Given the description of an element on the screen output the (x, y) to click on. 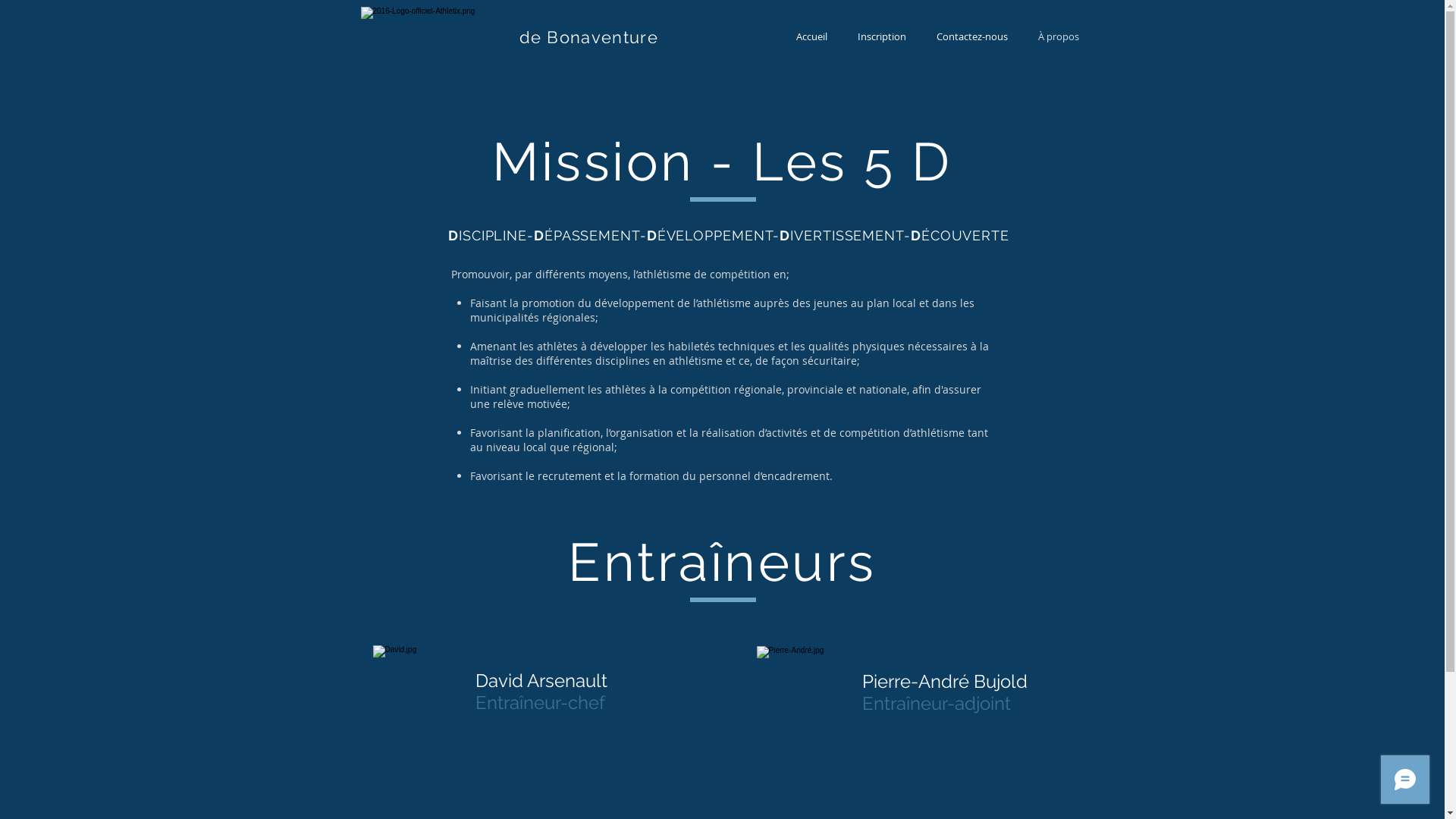
Accueil Element type: text (811, 36)
de Bonaventure Element type: text (587, 37)
Contactez-nous Element type: text (971, 36)
Inscription Element type: text (880, 36)
